Given the description of an element on the screen output the (x, y) to click on. 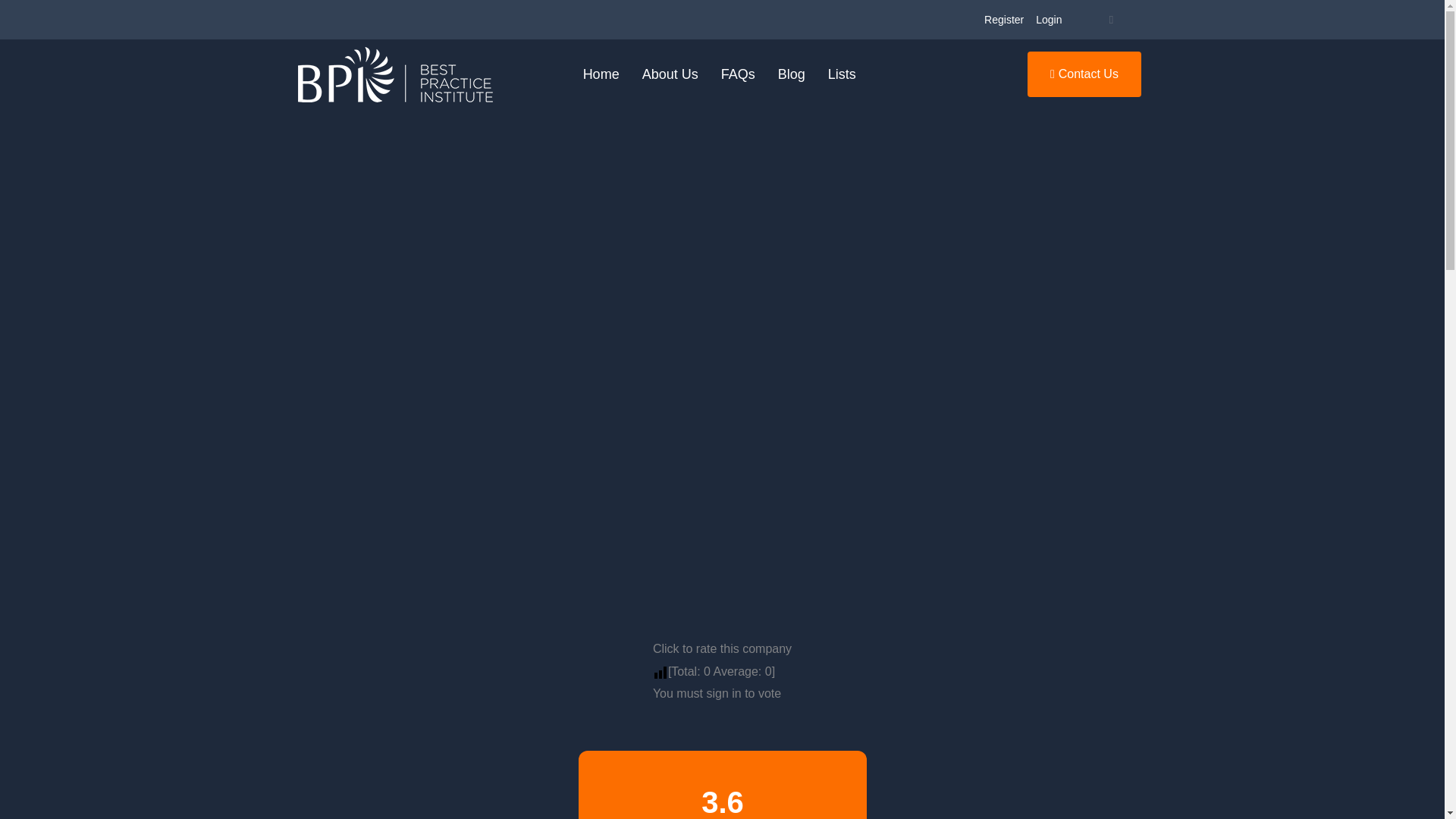
Login (1048, 19)
Register (1003, 19)
FAQs (738, 74)
Cart (1110, 19)
Contact Us (1084, 74)
Home (601, 74)
Blog (791, 74)
About Us (670, 74)
Lists (841, 74)
